Given the description of an element on the screen output the (x, y) to click on. 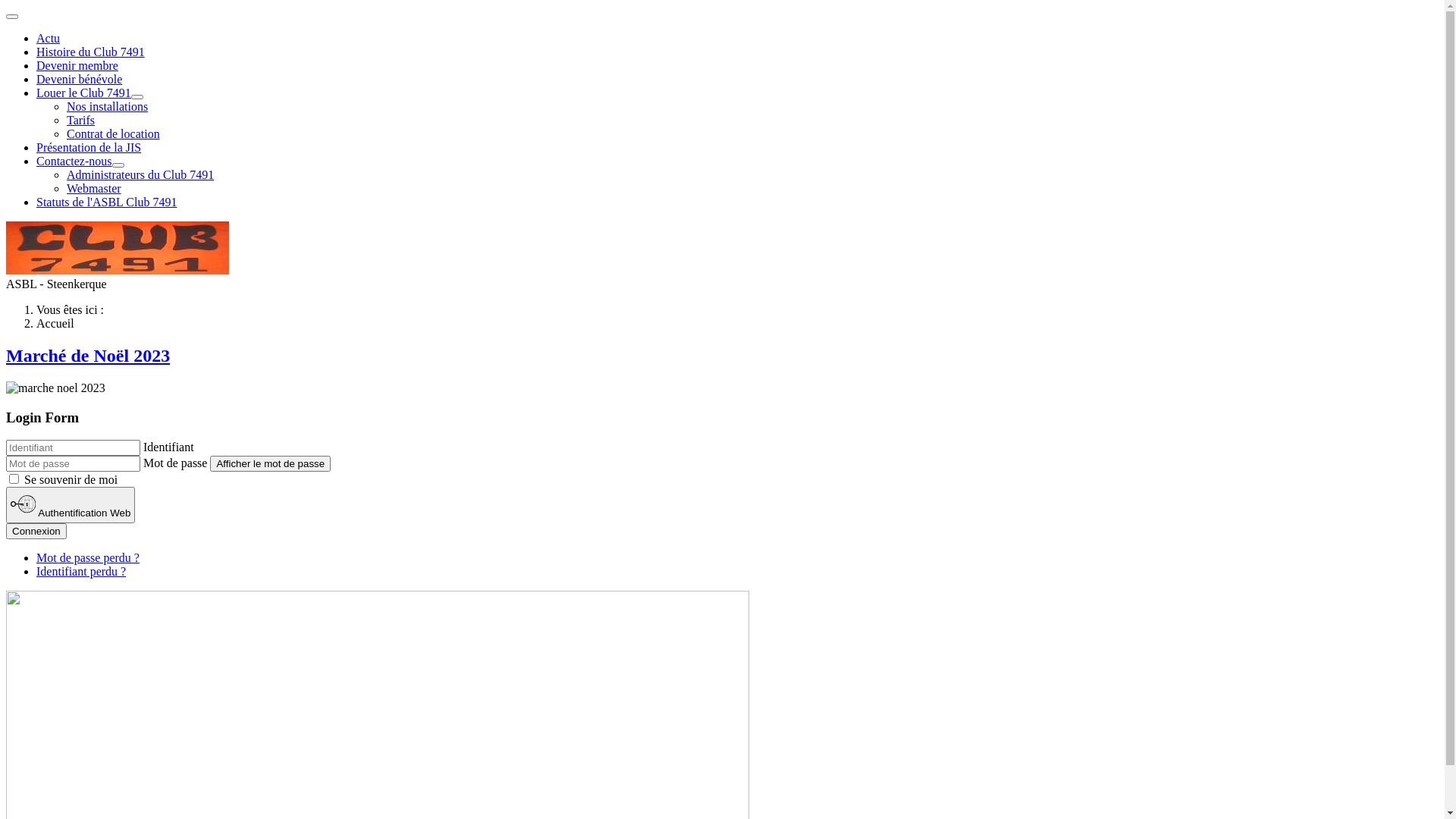
Nos installations Element type: text (106, 106)
Identifiant perdu ? Element type: text (80, 570)
Louer le Club 7491 Element type: text (83, 92)
Tarifs Element type: text (80, 119)
Mot de passe perdu ? Element type: text (87, 557)
Connexion Element type: text (36, 531)
Histoire du Club 7491 Element type: text (90, 51)
Contactez-nous Element type: text (74, 160)
Afficher le mot de passe Element type: text (270, 463)
Administrateurs du Club 7491 Element type: text (139, 174)
Actu Element type: text (47, 37)
Authentification Web Element type: text (70, 504)
Statuts de l'ASBL Club 7491 Element type: text (106, 201)
Webmaster Element type: text (93, 188)
Contrat de location Element type: text (113, 133)
Devenir membre Element type: text (77, 65)
